Given the description of an element on the screen output the (x, y) to click on. 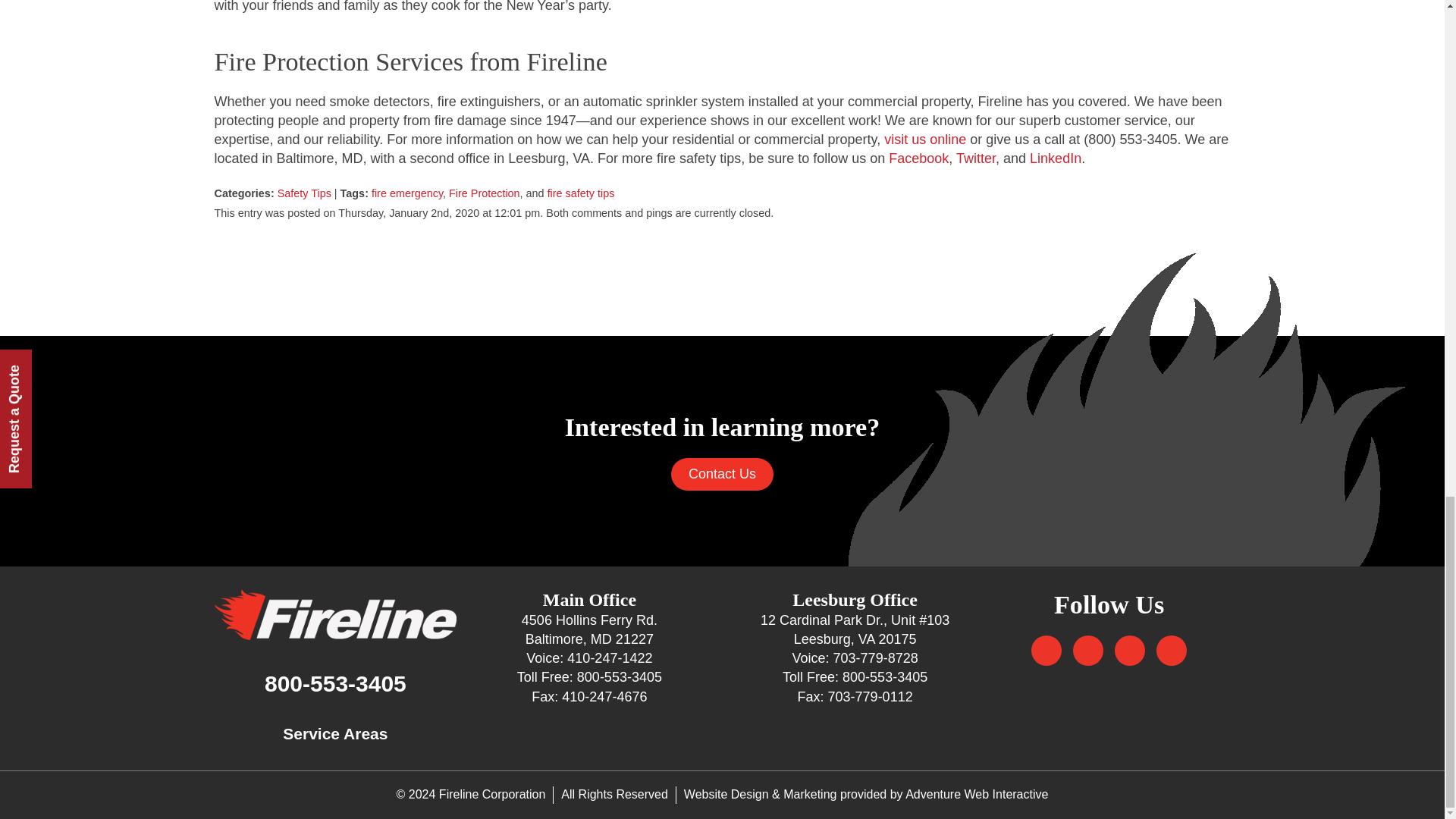
Fireline (335, 613)
